Given the description of an element on the screen output the (x, y) to click on. 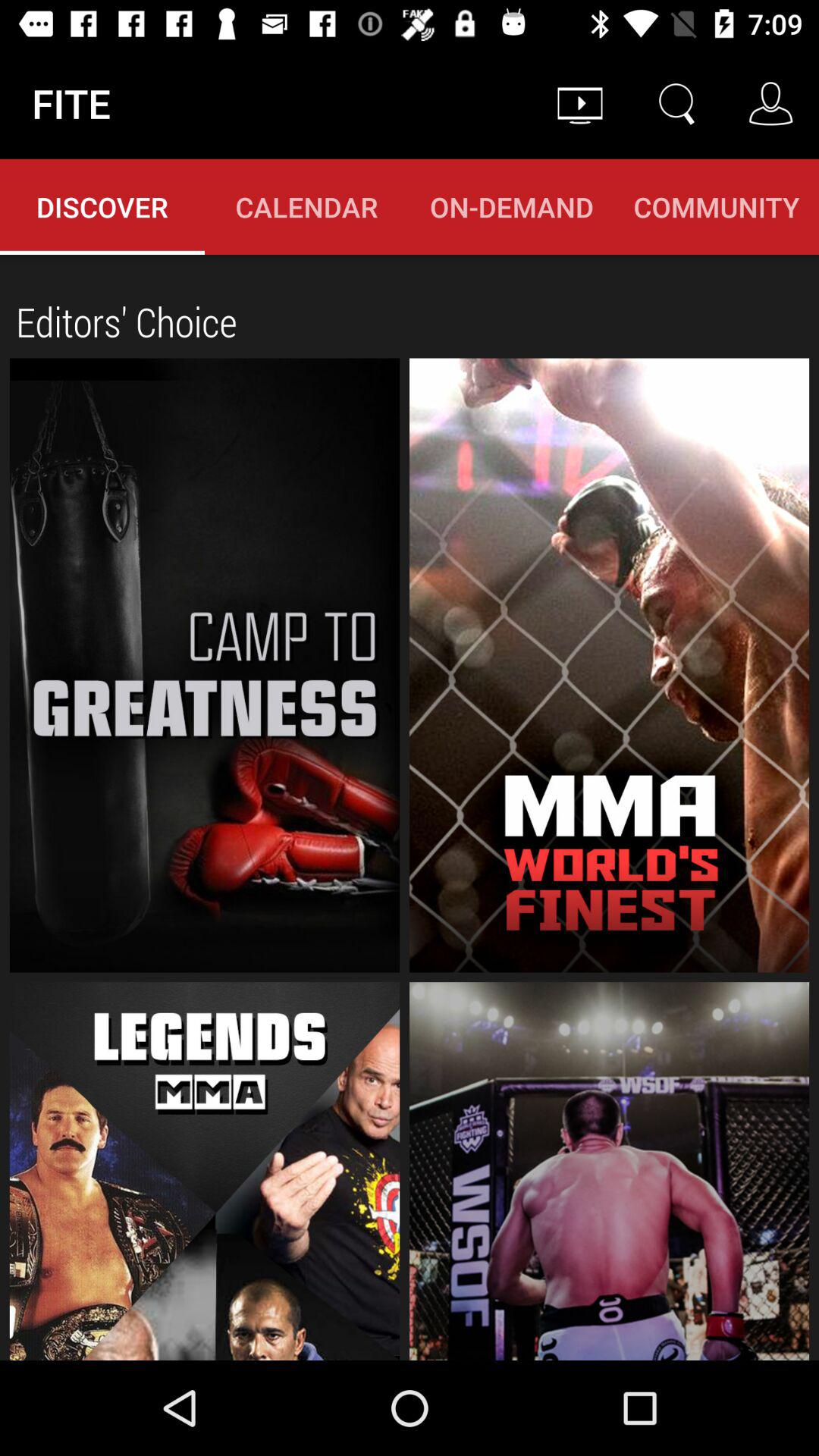
choose the item next to the fite (579, 103)
